Given the description of an element on the screen output the (x, y) to click on. 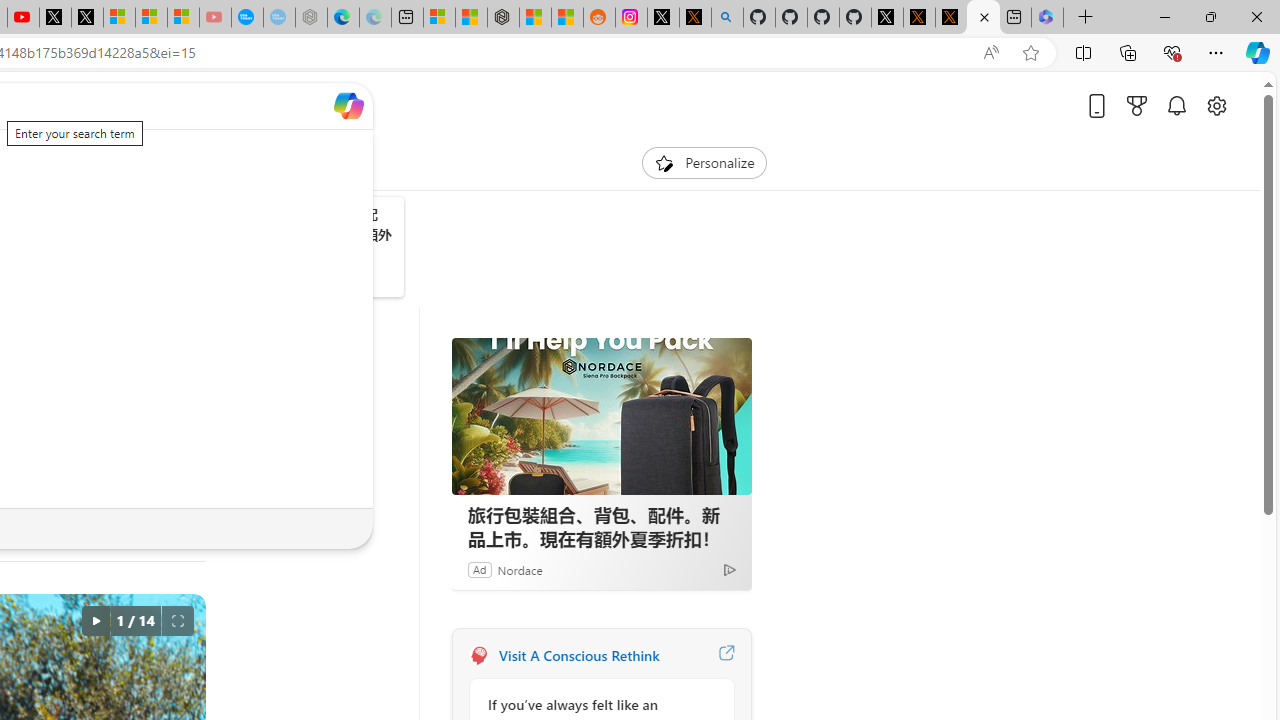
Nordace - Duffels (502, 17)
Opinion: Op-Ed and Commentary - USA TODAY (246, 17)
A Conscious Rethink (478, 655)
Profile / X (886, 17)
Lifestyle (141, 162)
